Given the description of an element on the screen output the (x, y) to click on. 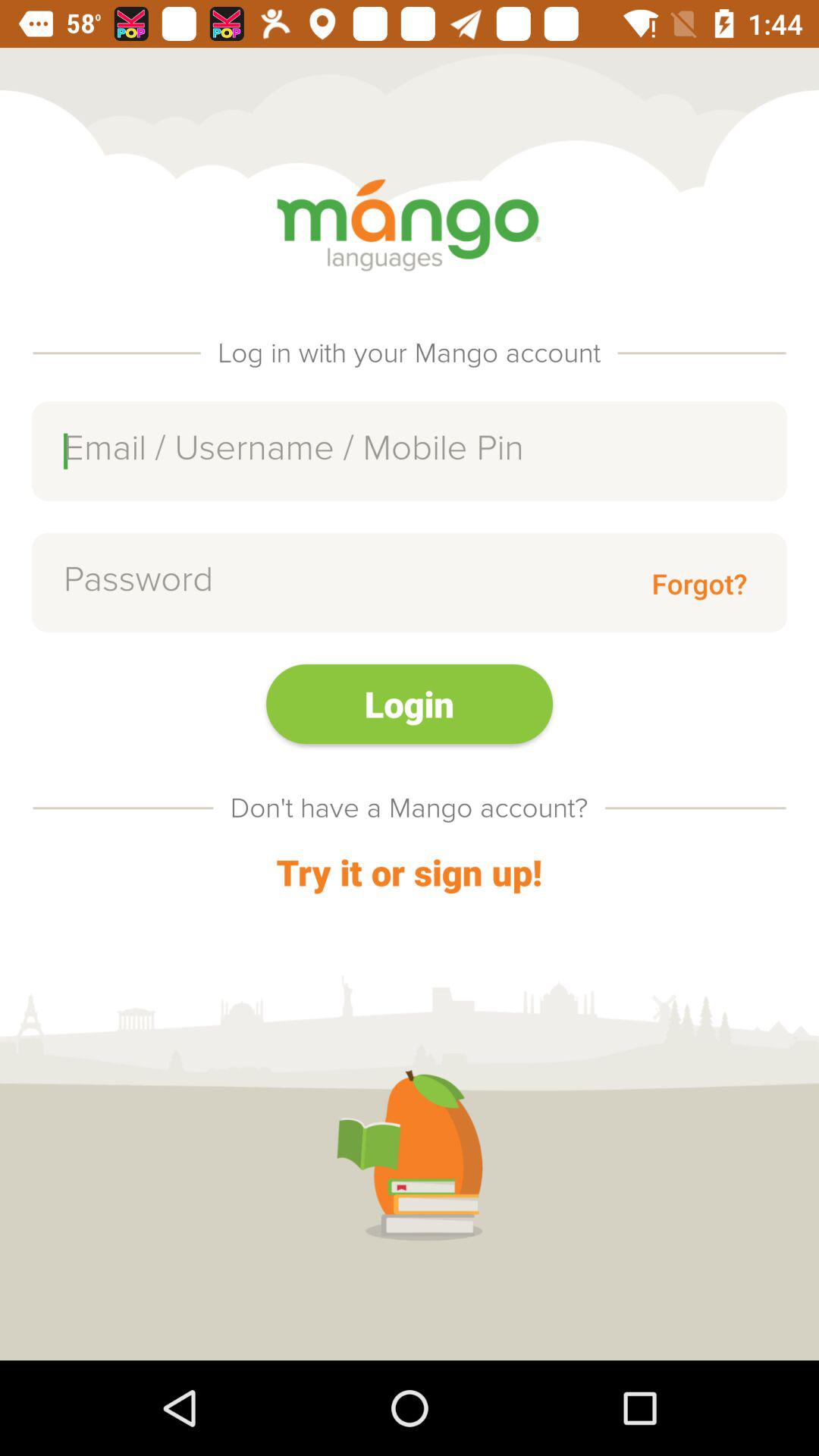
enter information (409, 451)
